Given the description of an element on the screen output the (x, y) to click on. 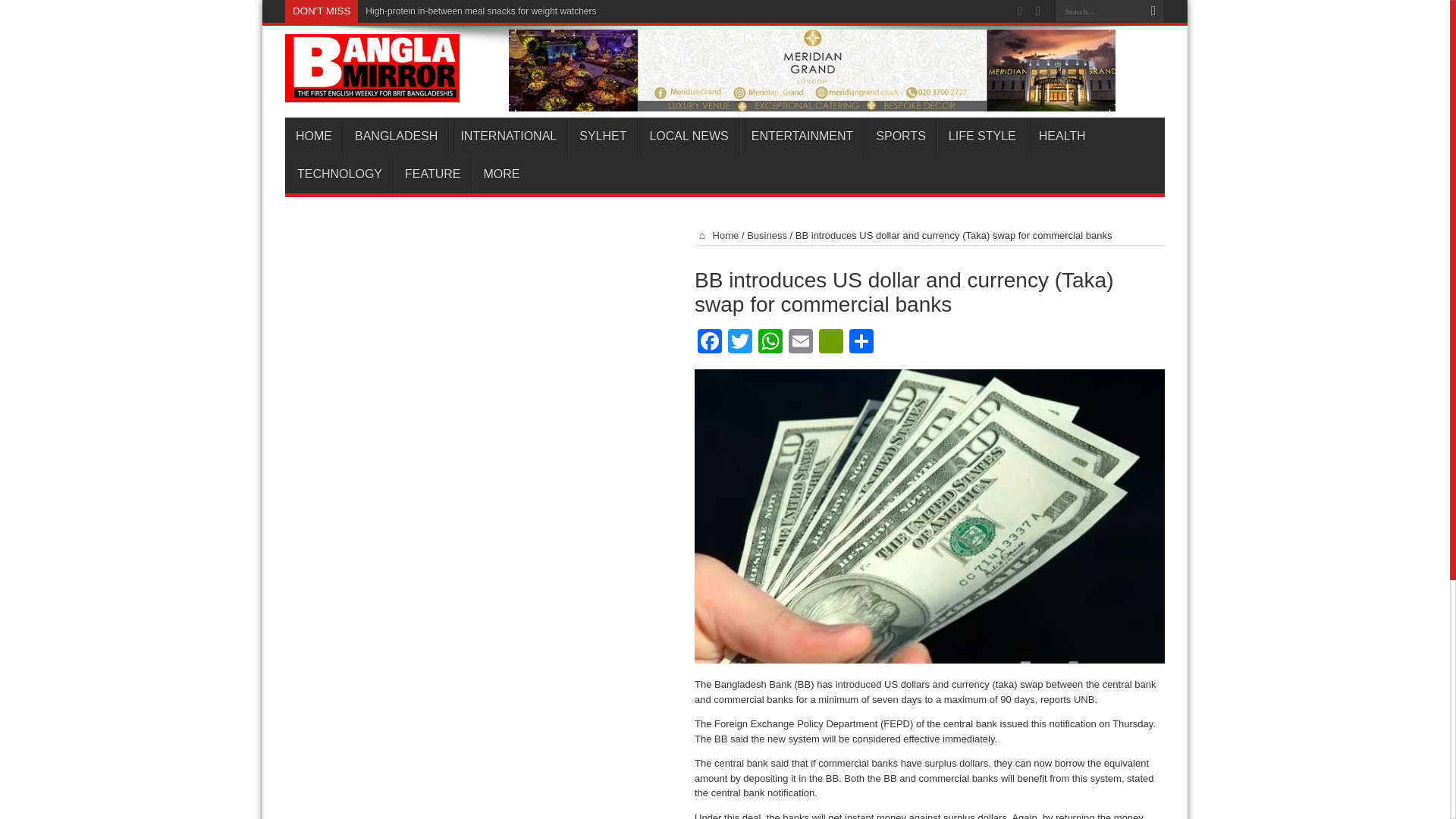
Email (800, 343)
High-protein in-between meal snacks for weight watchers (480, 11)
Search... (1097, 11)
Twitter (740, 343)
PrintFriendly (830, 343)
WhatsApp (770, 343)
MORE (500, 174)
Facebook (709, 343)
Search (1152, 11)
